Given the description of an element on the screen output the (x, y) to click on. 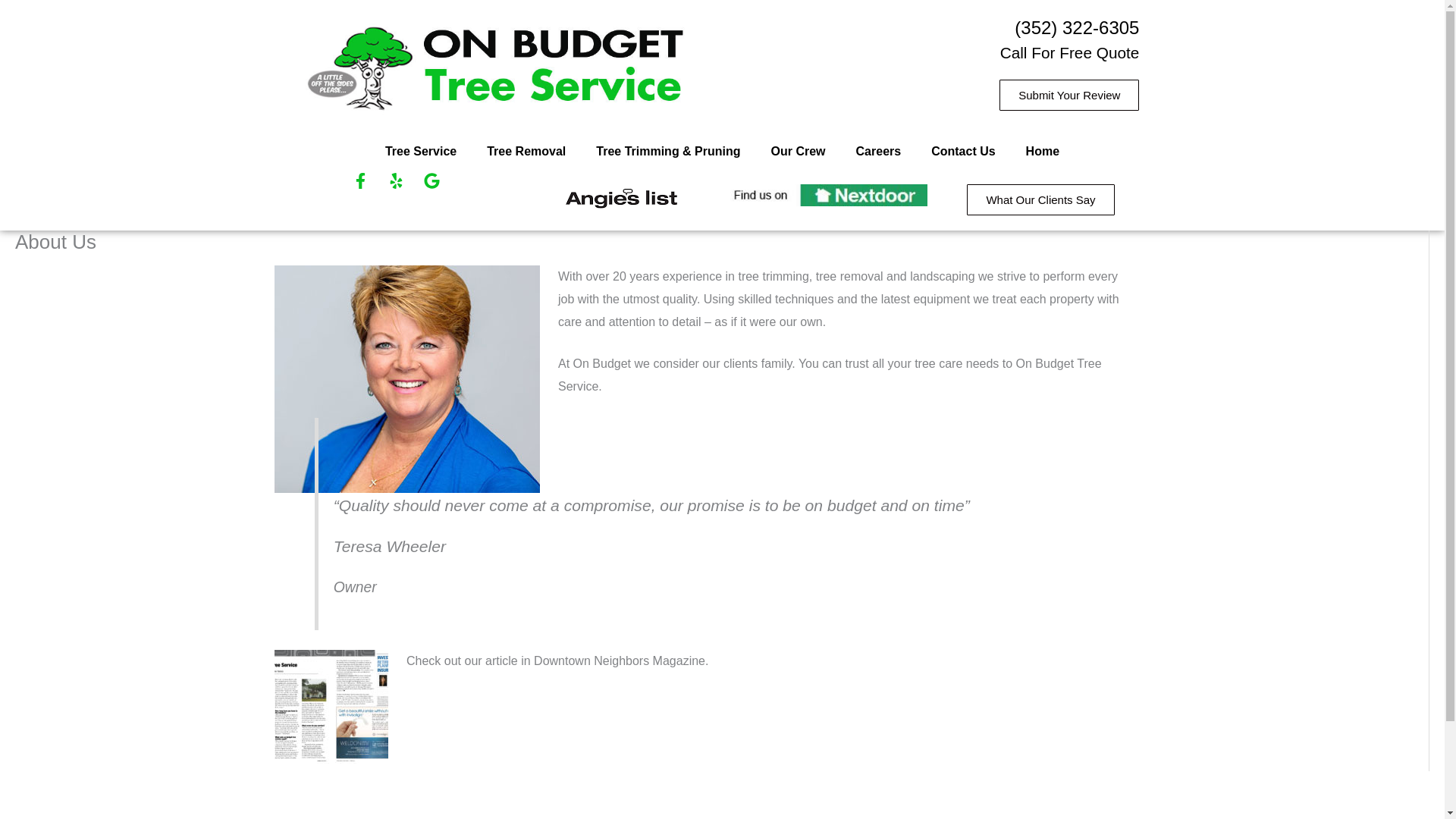
Our Crew (798, 151)
Careers (879, 151)
Yelp (404, 188)
Tree Service (420, 151)
Submit Your Review (1068, 94)
Tree Removal (525, 151)
Home (1042, 151)
Call For Free Quote (1070, 52)
Facebook-f (368, 188)
Contact Us (962, 151)
